Given the description of an element on the screen output the (x, y) to click on. 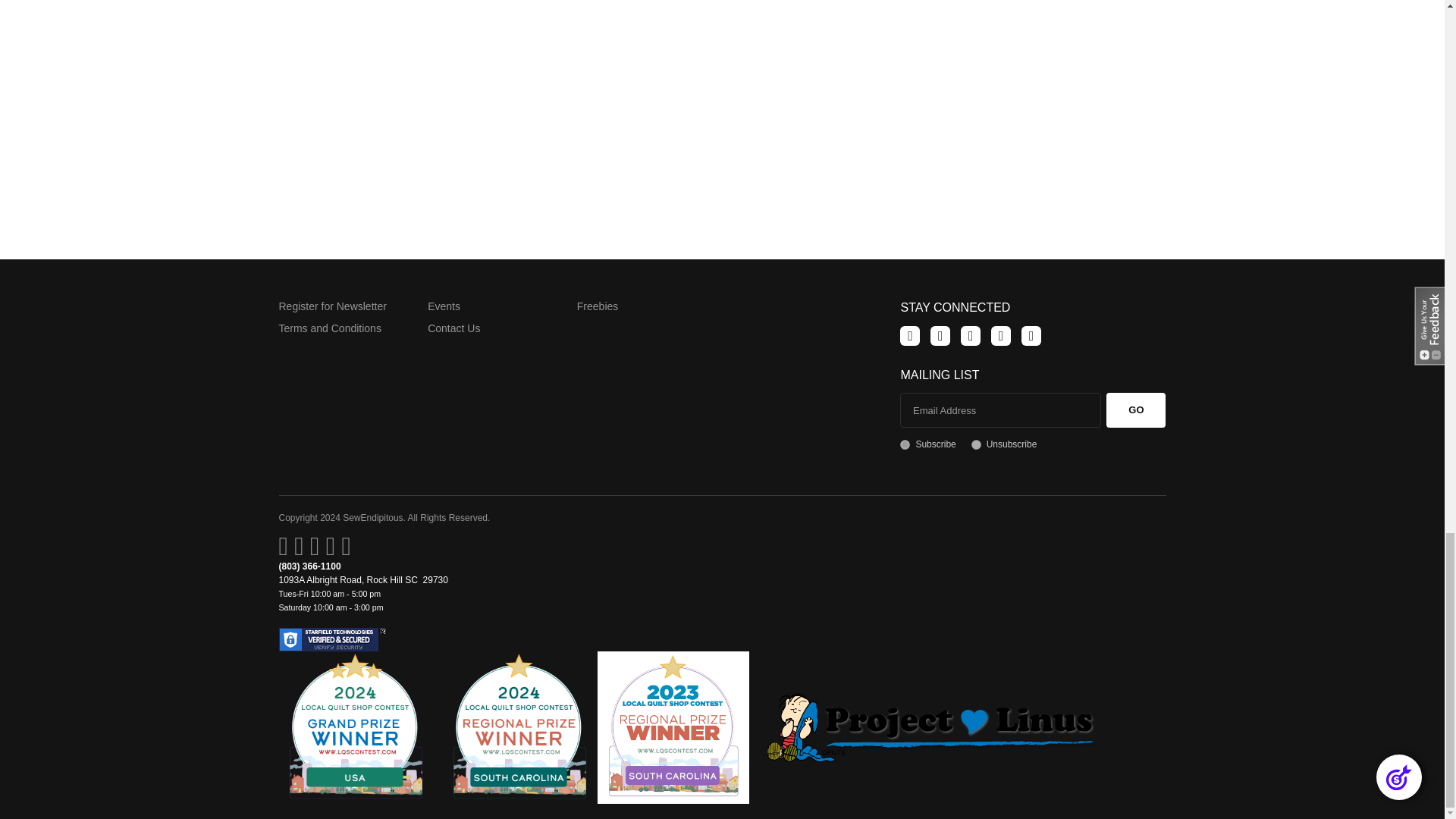
Subscribe to our Channel (969, 335)
0 (976, 444)
1 (904, 444)
Like Us on Facebook (909, 335)
Follow Us on Twitter (940, 335)
